Given the description of an element on the screen output the (x, y) to click on. 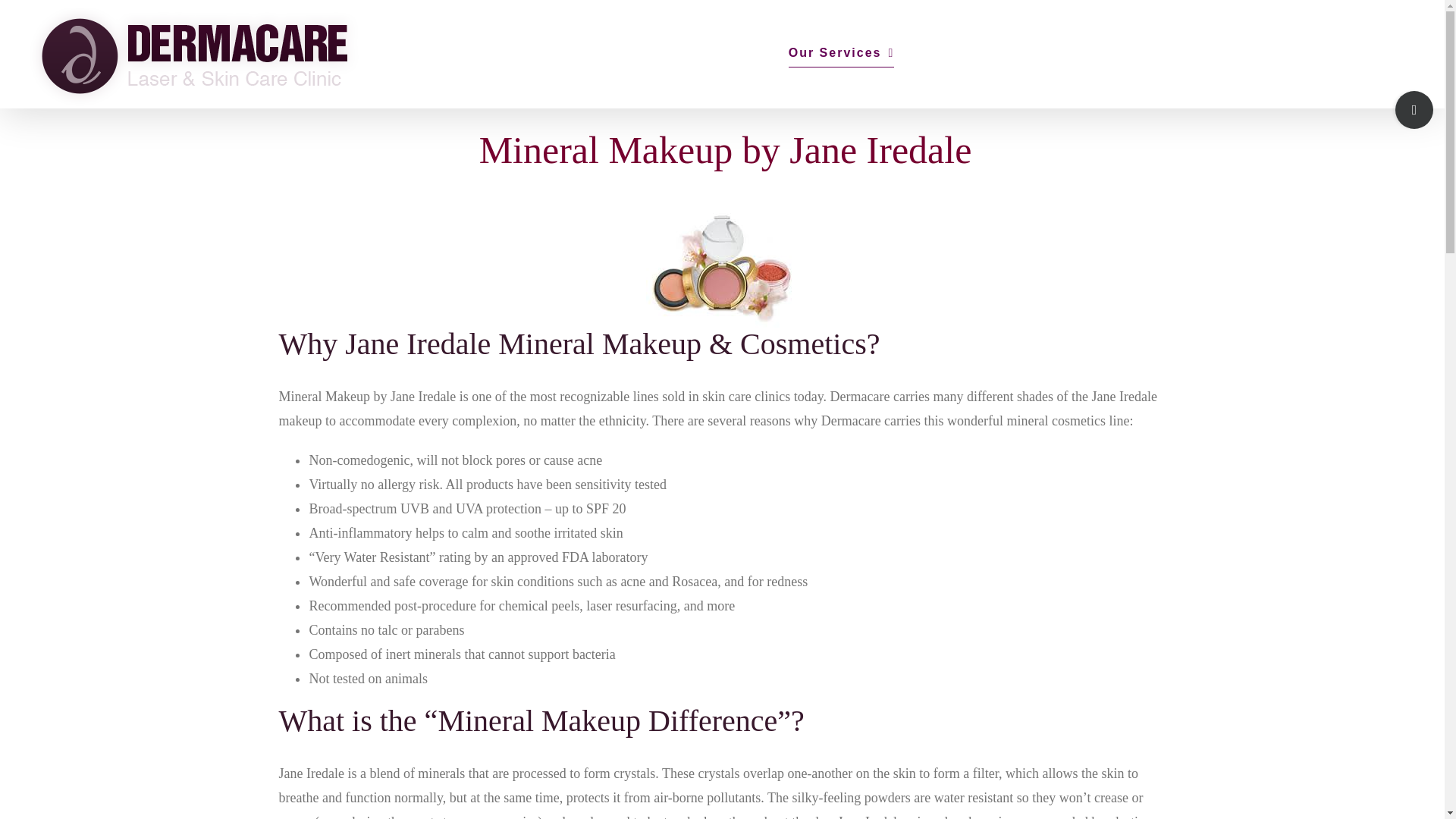
Home (729, 53)
Jane Iredale Makeup (721, 267)
About Us (1107, 53)
Your Concern (980, 53)
Our Services (842, 53)
